Given the description of an element on the screen output the (x, y) to click on. 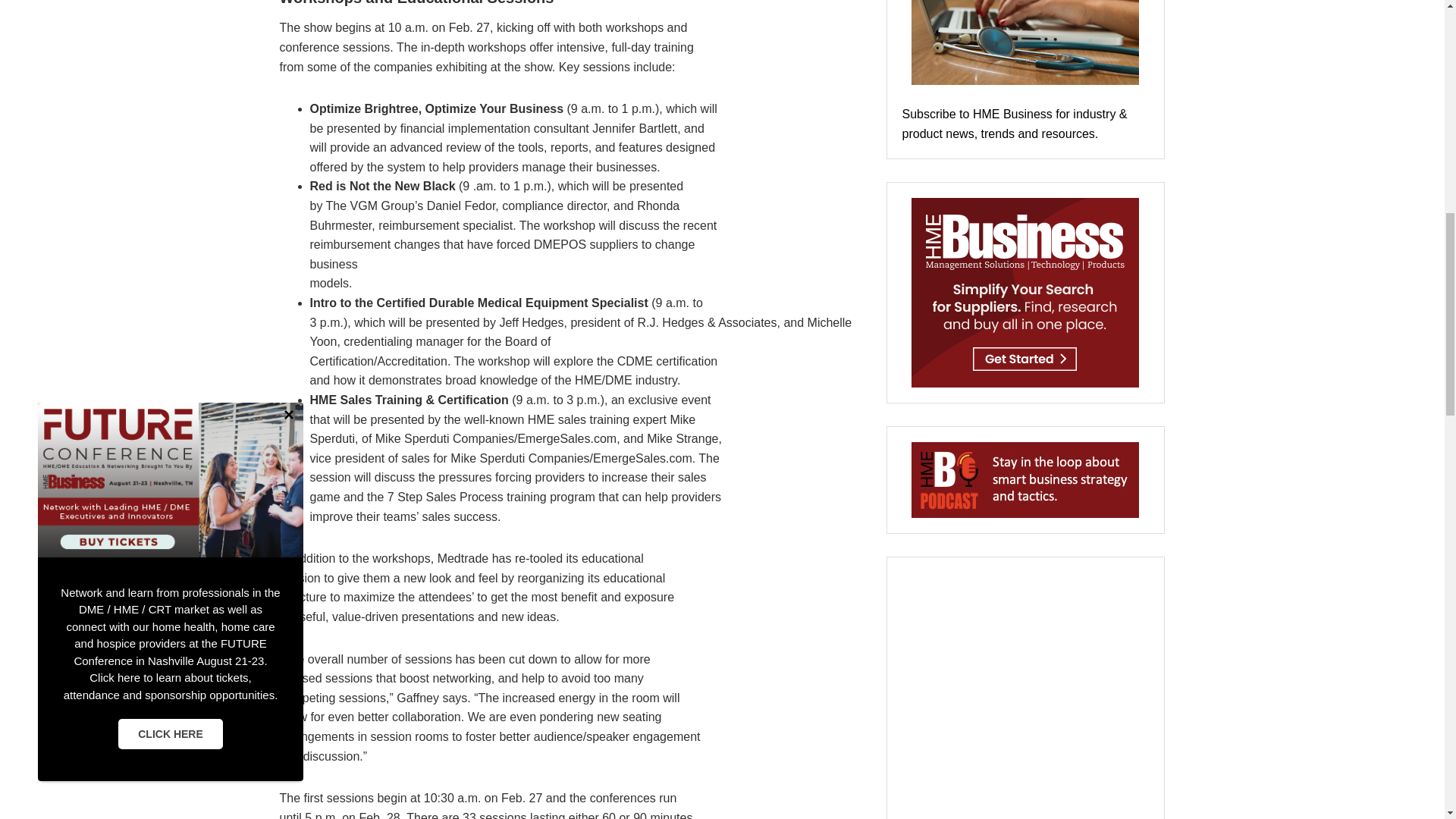
3rd party ad content (1024, 695)
